Given the description of an element on the screen output the (x, y) to click on. 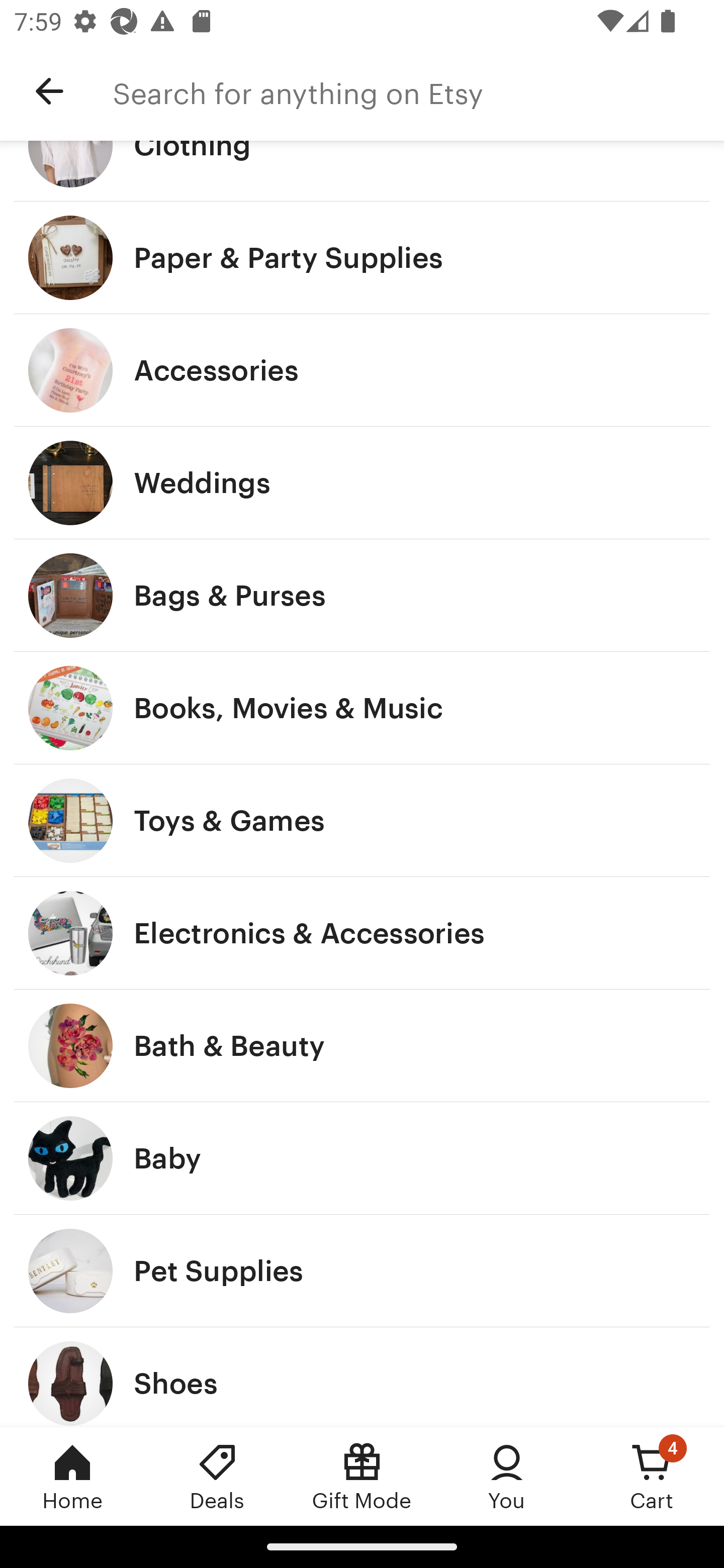
Navigate up (49, 91)
Search for anything on Etsy (418, 91)
Clothing (361, 171)
Paper & Party Supplies (361, 257)
Accessories (361, 369)
Weddings (361, 482)
Bags & Purses (361, 595)
Books, Movies & Music (361, 708)
Toys & Games (361, 820)
Electronics & Accessories (361, 932)
Bath & Beauty (361, 1045)
Baby (361, 1158)
Pet Supplies (361, 1270)
Shoes (361, 1376)
Deals (216, 1475)
Gift Mode (361, 1475)
You (506, 1475)
Cart, 4 new notifications Cart (651, 1475)
